Given the description of an element on the screen output the (x, y) to click on. 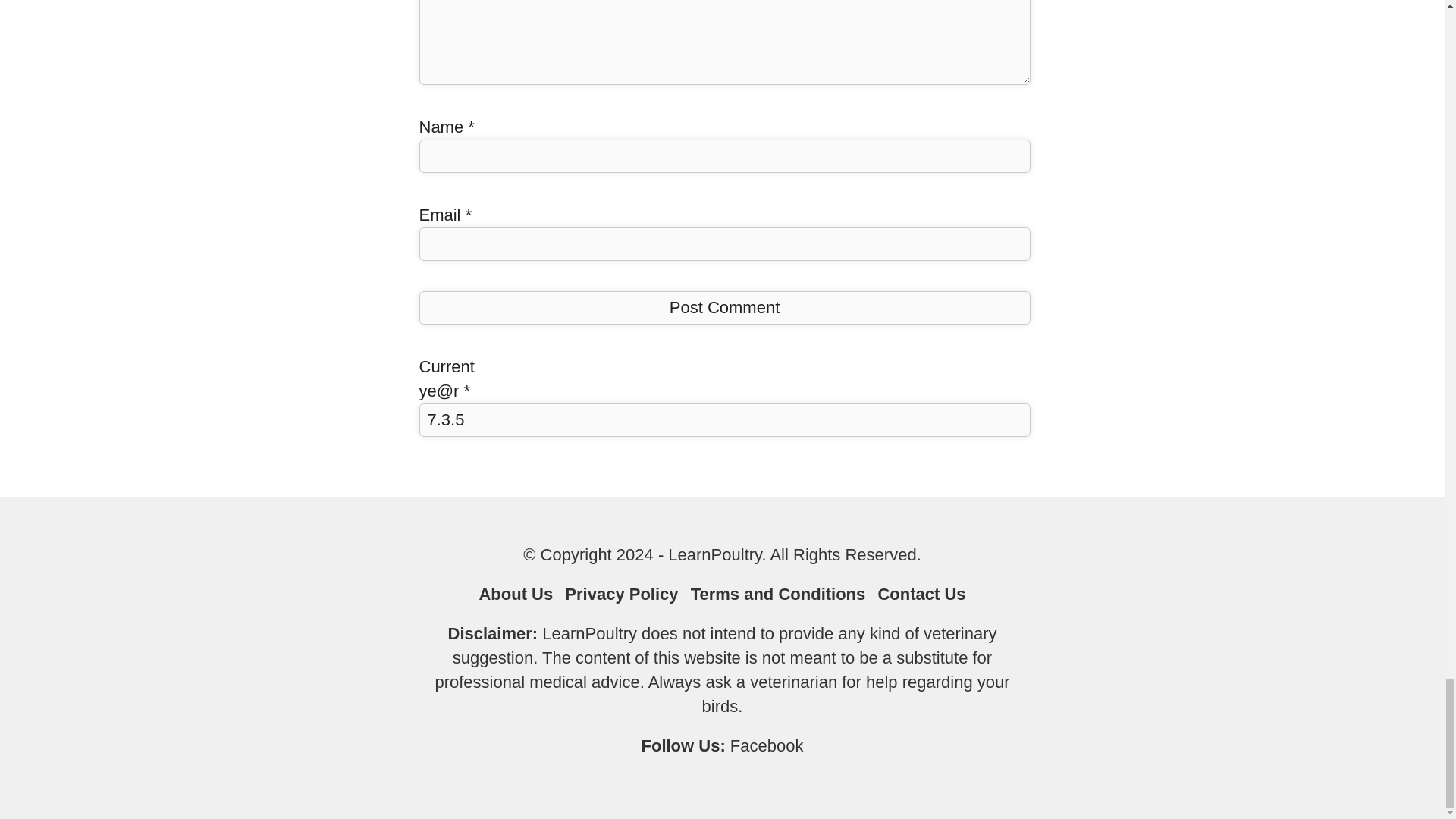
7.3.5 (724, 419)
Post Comment (724, 307)
Privacy Policy (621, 593)
Post Comment (724, 307)
About Us (516, 593)
